Given the description of an element on the screen output the (x, y) to click on. 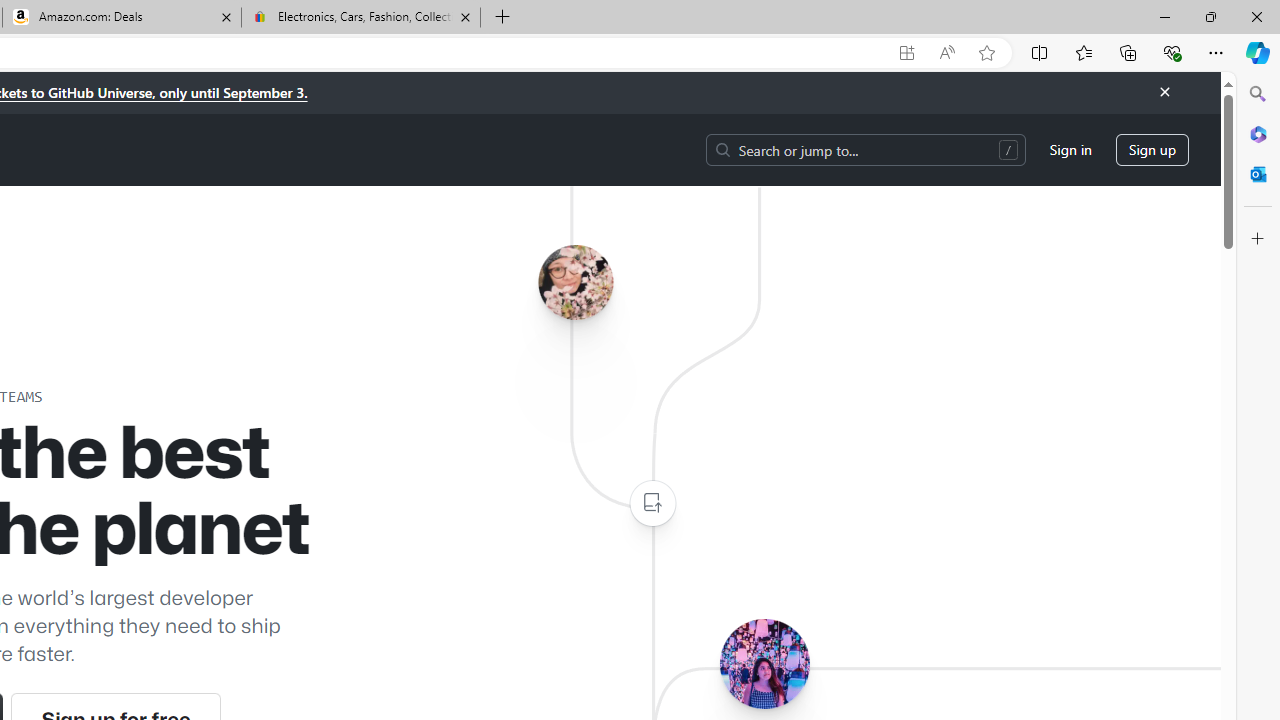
Sign up (1152, 149)
Class: color-fg-muted width-full (652, 503)
Avatar of the user ohjoycelau (575, 281)
Avatar of the user teenage-witch (764, 663)
